Given the description of an element on the screen output the (x, y) to click on. 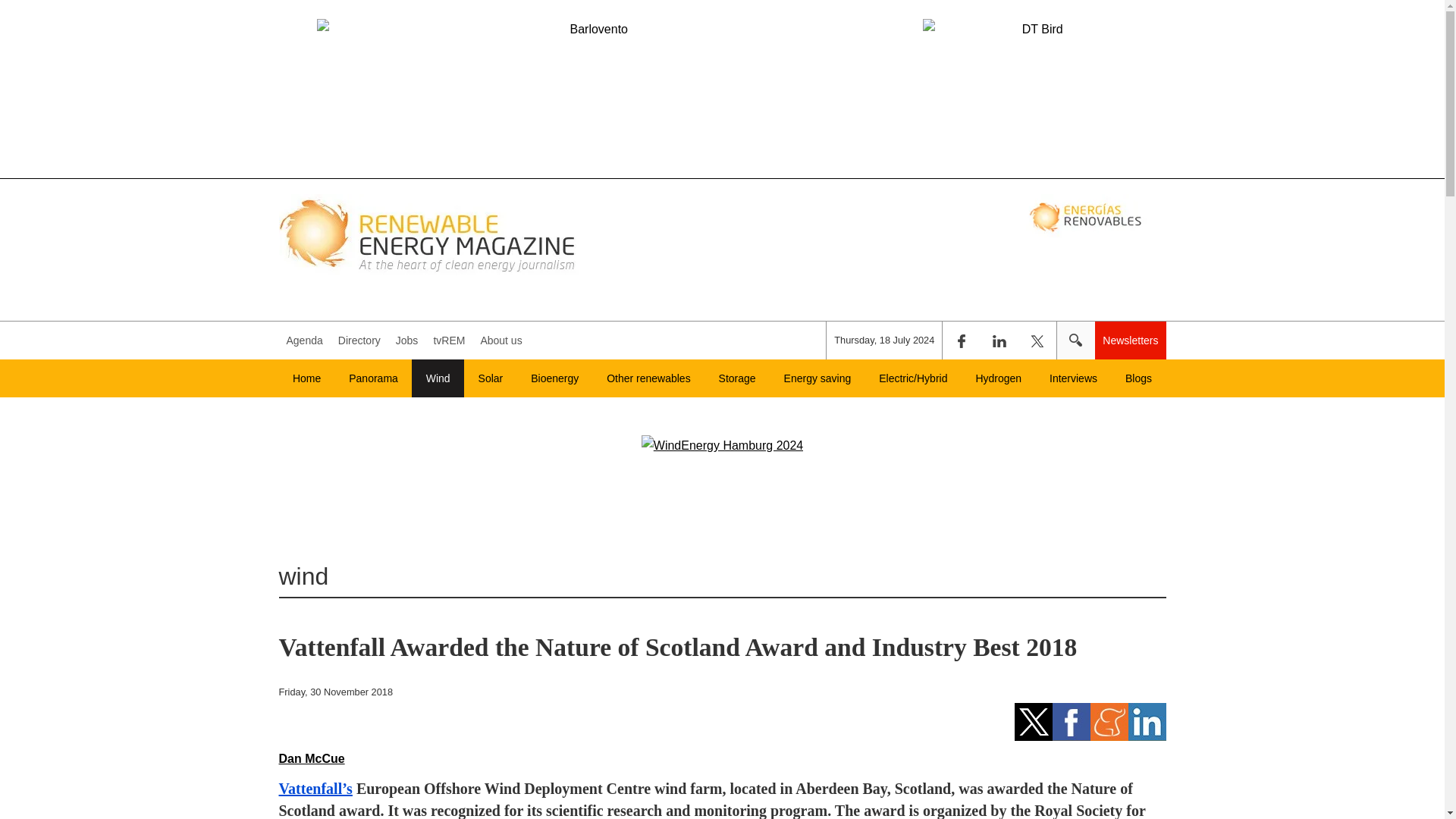
Home (306, 378)
About us (500, 340)
Blogs (1139, 378)
Storage (737, 378)
Interviews (1073, 378)
Ir a Inicio (429, 234)
Other renewables (648, 378)
Jobs (407, 340)
Energy saving (817, 378)
Agenda (304, 340)
Solar (490, 378)
Go to Videos (448, 340)
Go to Newsletters (1130, 340)
Go to Jobs (407, 340)
Go to Companies directory (359, 340)
